Given the description of an element on the screen output the (x, y) to click on. 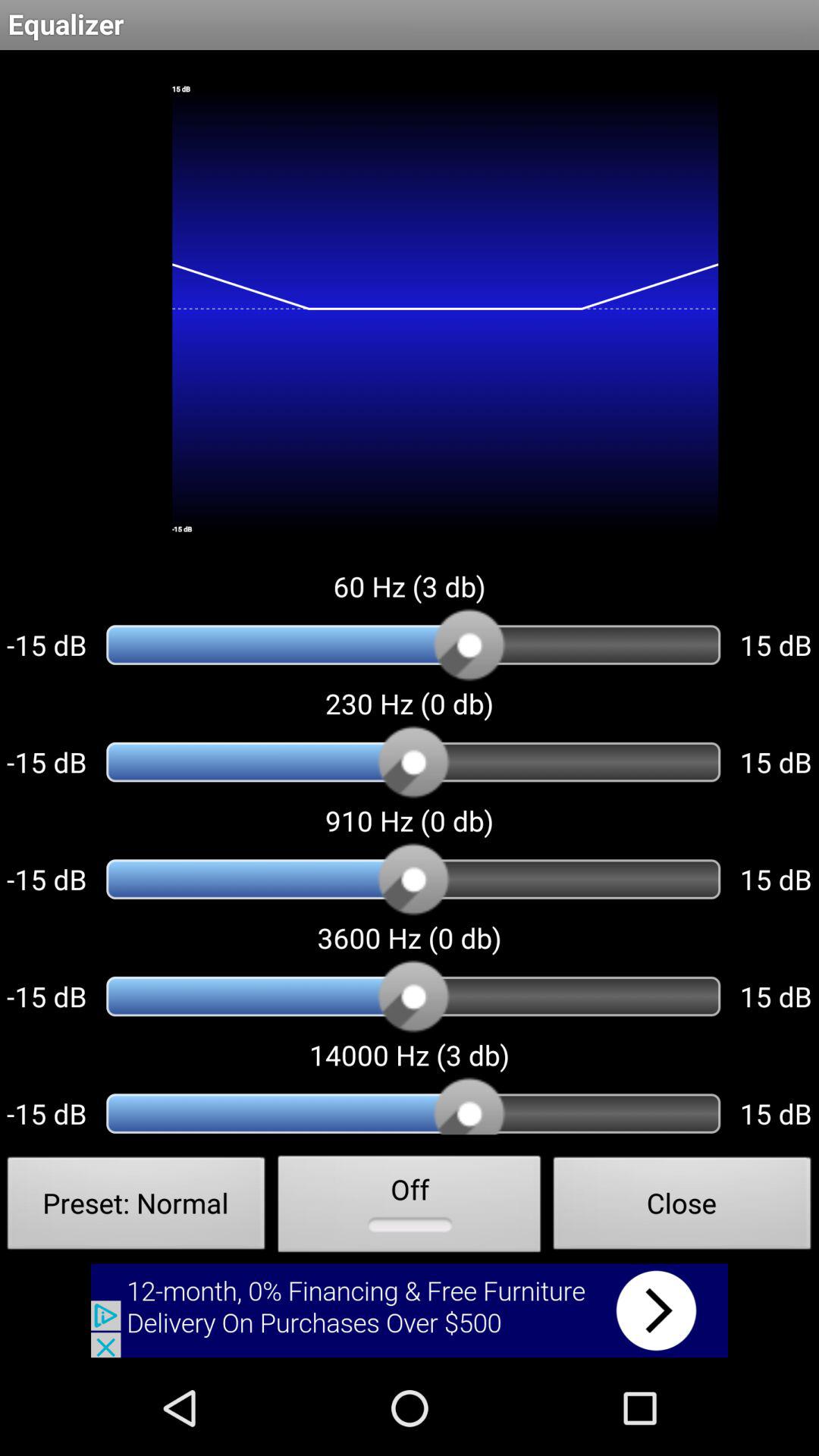
select advertisement (409, 1310)
